Given the description of an element on the screen output the (x, y) to click on. 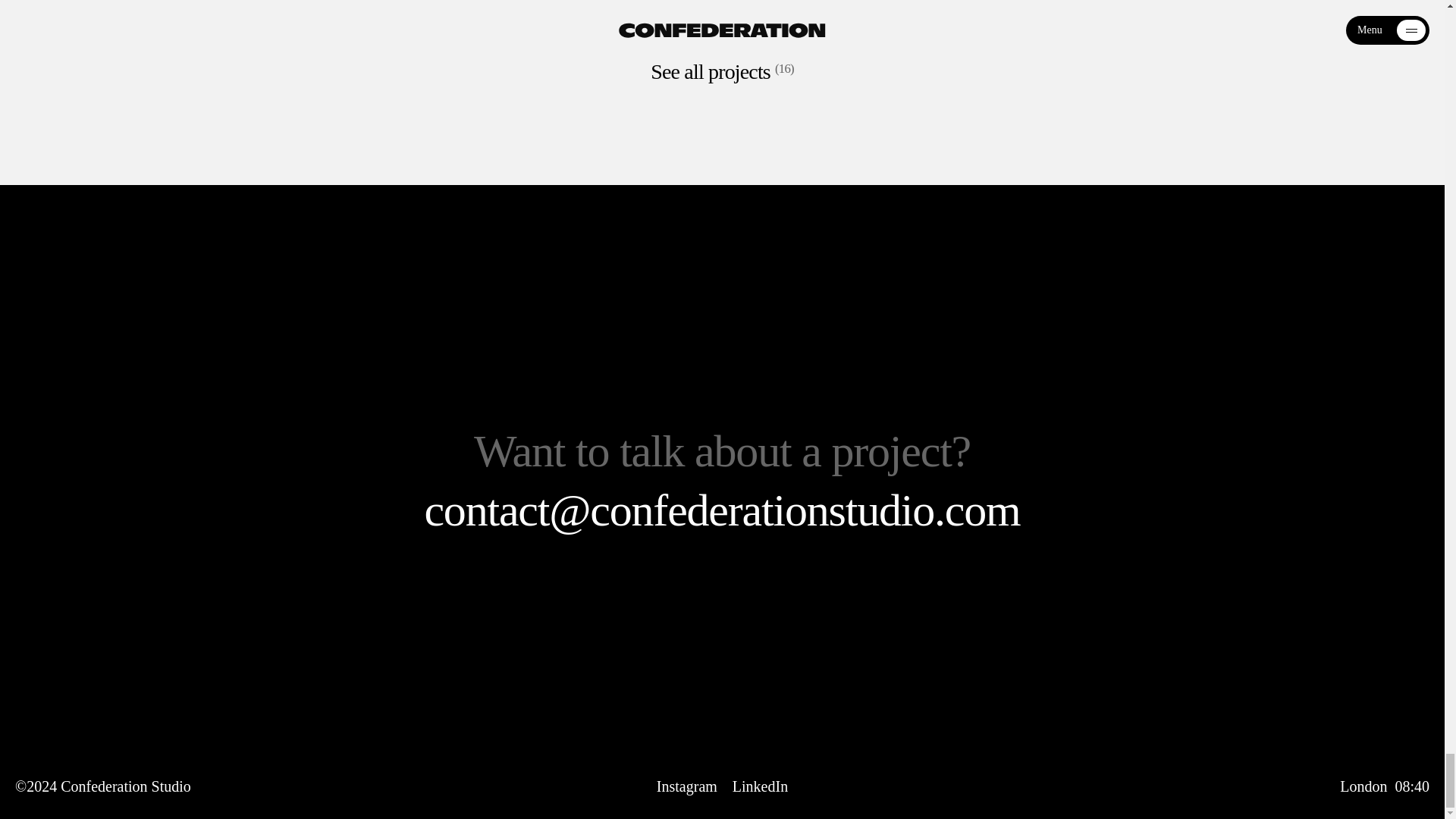
LinkedIn (759, 786)
Instagram (686, 786)
